Given the description of an element on the screen output the (x, y) to click on. 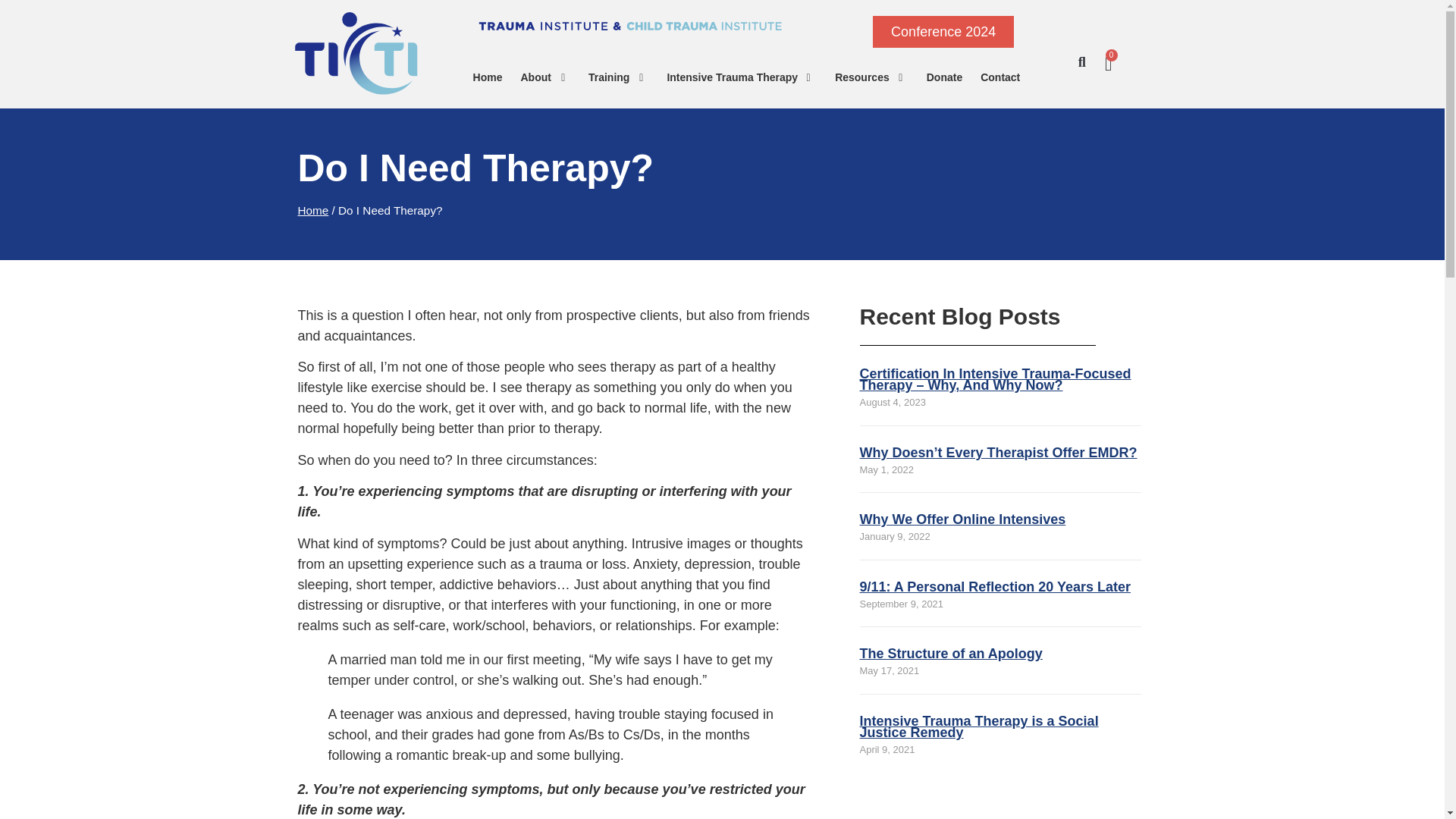
Why We Offer Online Intensives (962, 519)
The Structure of an Apology (951, 653)
Training (610, 76)
Conference 2024 (942, 31)
Intensive Trauma Therapy is a Social Justice Remedy (979, 726)
About (537, 76)
Home (487, 76)
